Given the description of an element on the screen output the (x, y) to click on. 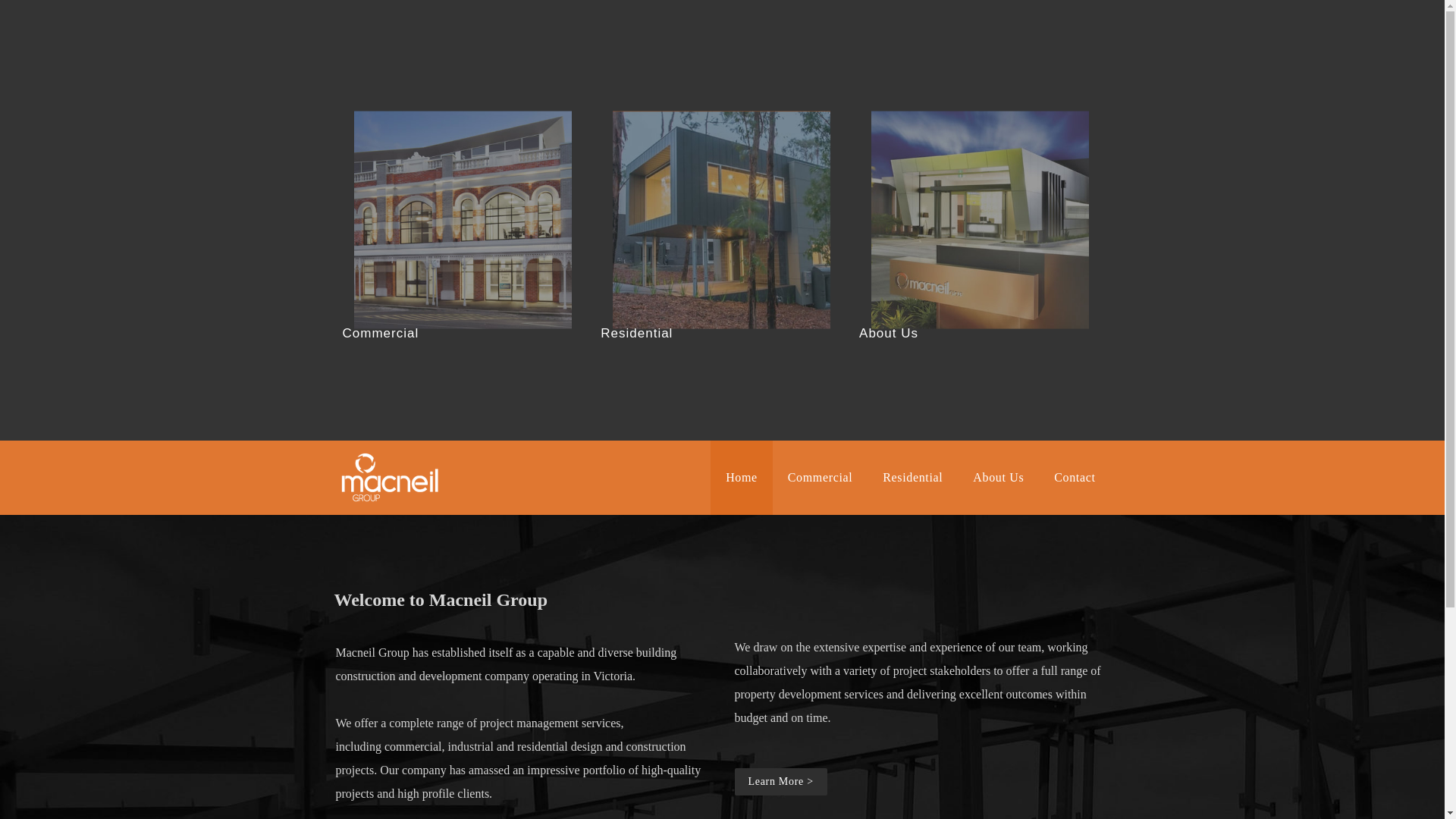
Contact Element type: text (1074, 477)
Residential Element type: text (912, 477)
Learn More > Element type: text (780, 781)
Commercial Element type: text (820, 477)
Home Element type: text (741, 477)
About Us Element type: text (997, 477)
